Given the description of an element on the screen output the (x, y) to click on. 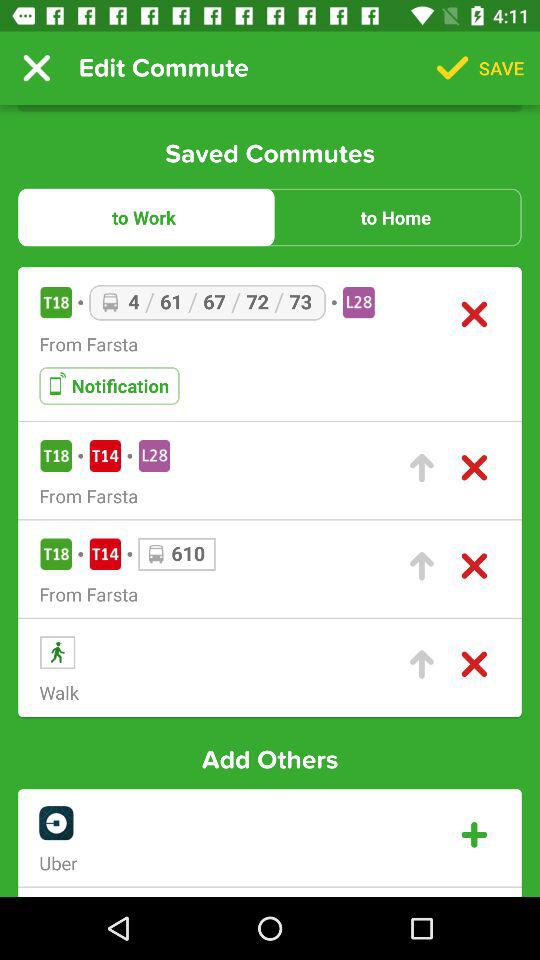
launch to work item (144, 217)
